Given the description of an element on the screen output the (x, y) to click on. 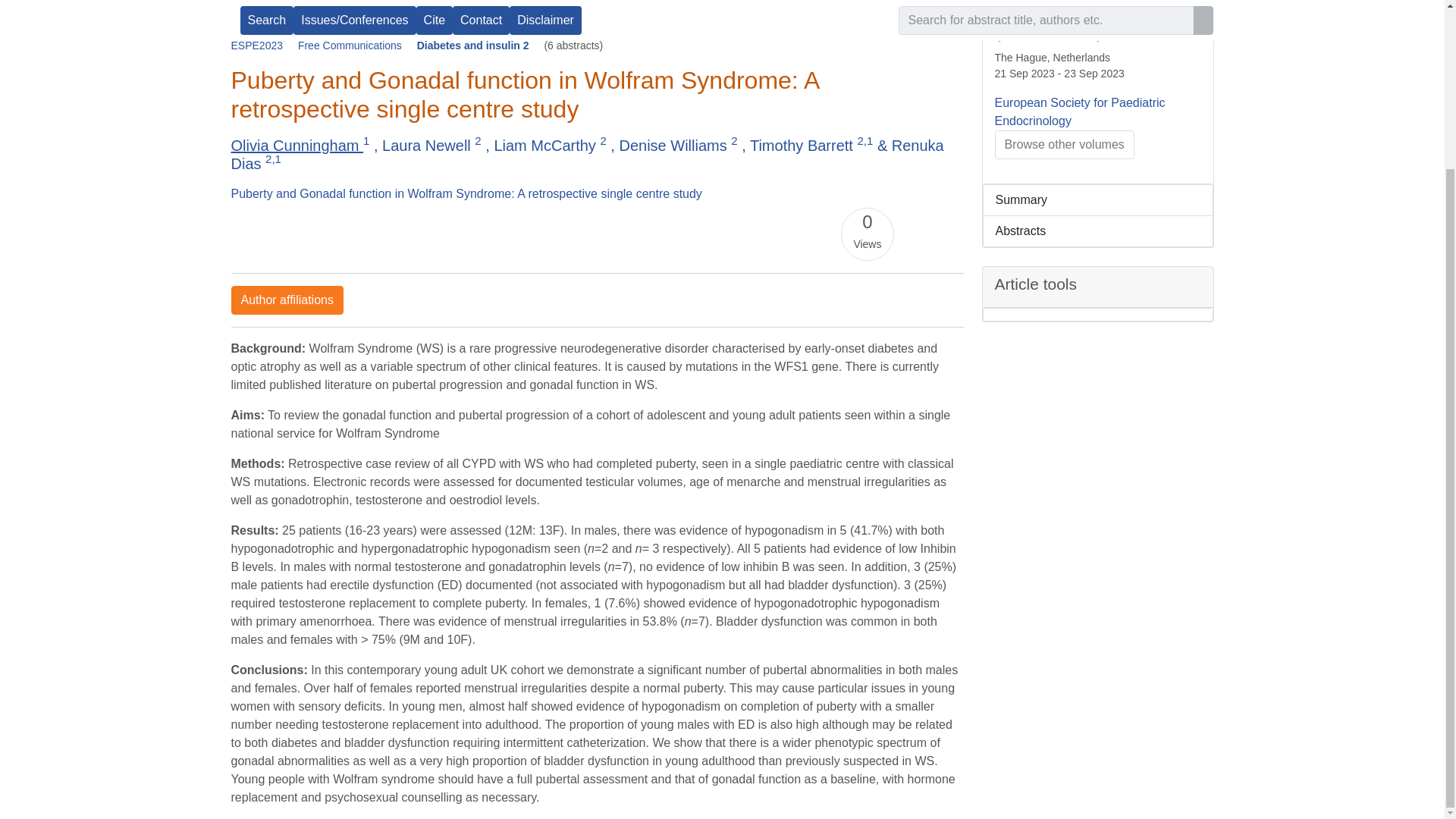
Browse other volumes (1064, 144)
Diabetes and insulin 2 (474, 45)
European Society for Paediatric Endocrinology  (1080, 111)
Denise Williams (674, 145)
Renuka Dias (586, 154)
Timothy Barrett (803, 145)
Olivia Cunningham (296, 145)
Liam McCarthy (546, 145)
Free Communications (351, 45)
Abstracts (1097, 231)
